Given the description of an element on the screen output the (x, y) to click on. 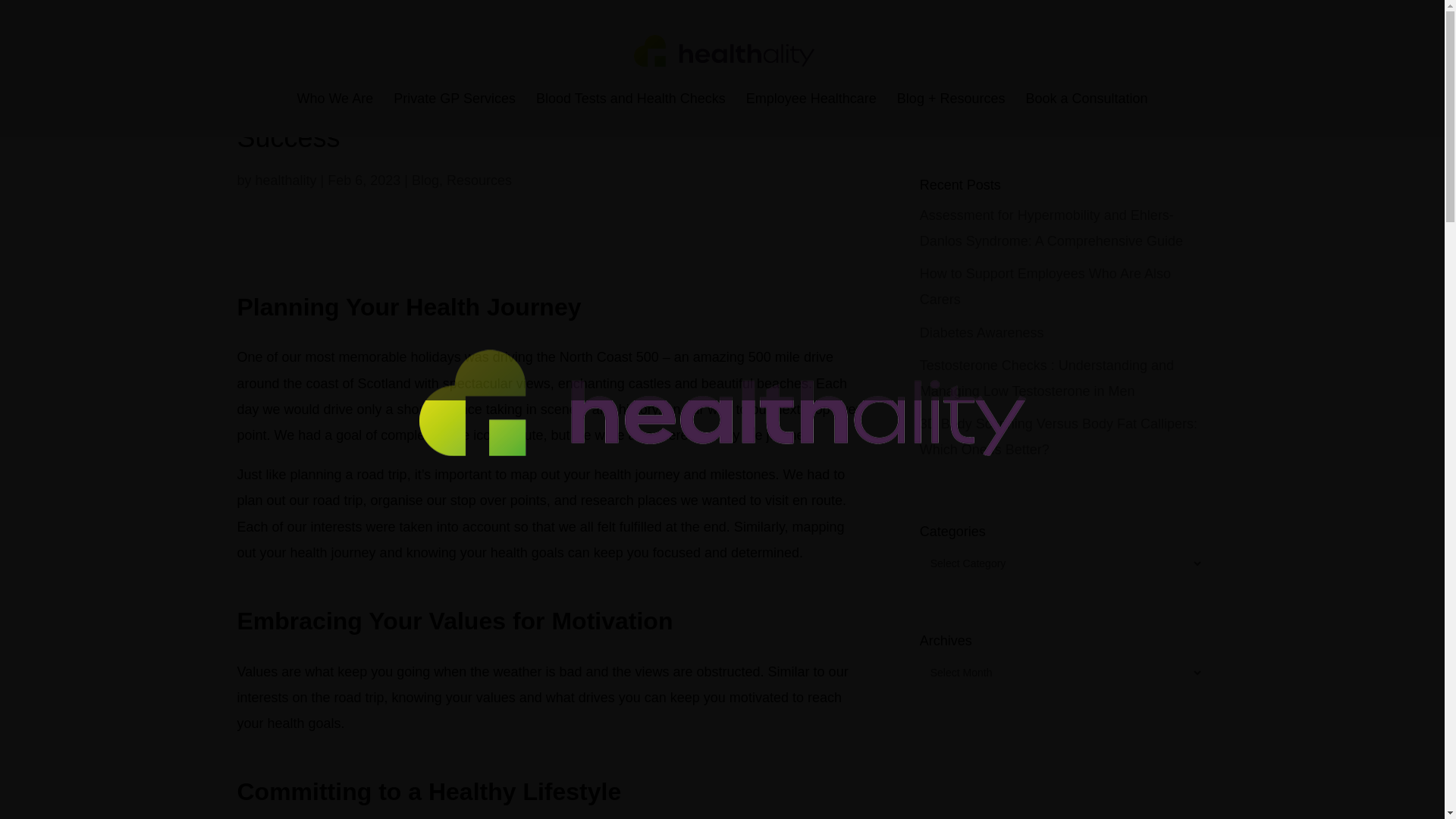
Book a Consultation (1086, 105)
Who We Are (334, 105)
healthality (286, 180)
Resources (479, 180)
Employee Healthcare (810, 105)
Posts by healthality (286, 180)
Blog (425, 180)
Search (1180, 108)
Diabetes Awareness (981, 332)
How to Support Employees Who Are Also Carers (1045, 286)
Blood Tests and Health Checks (630, 105)
Search (1180, 108)
Private GP Services (454, 105)
